Given the description of an element on the screen output the (x, y) to click on. 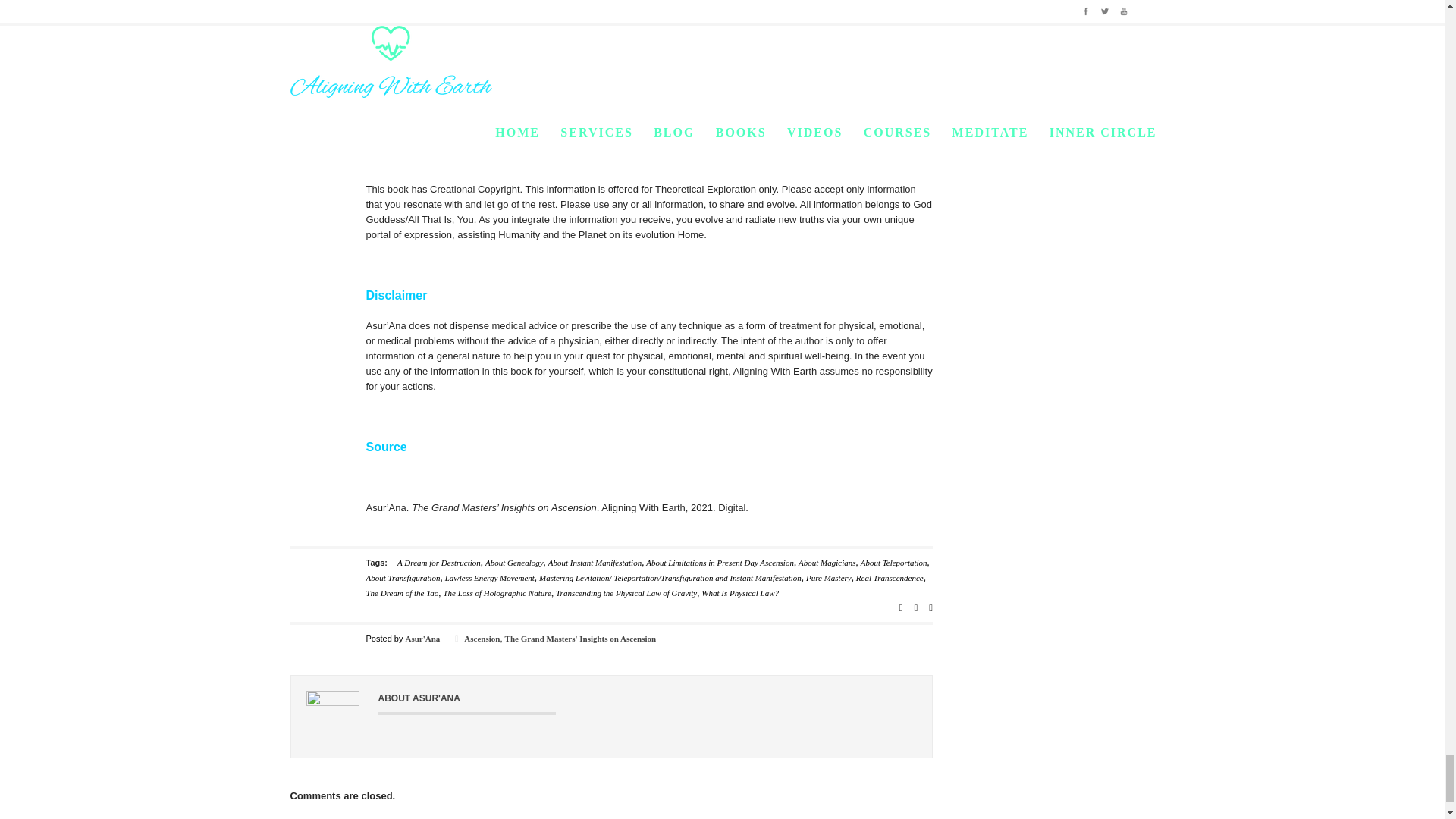
Asur'Ana (421, 637)
About Genealogy (513, 562)
A Dream for Destruction (438, 562)
